Given the description of an element on the screen output the (x, y) to click on. 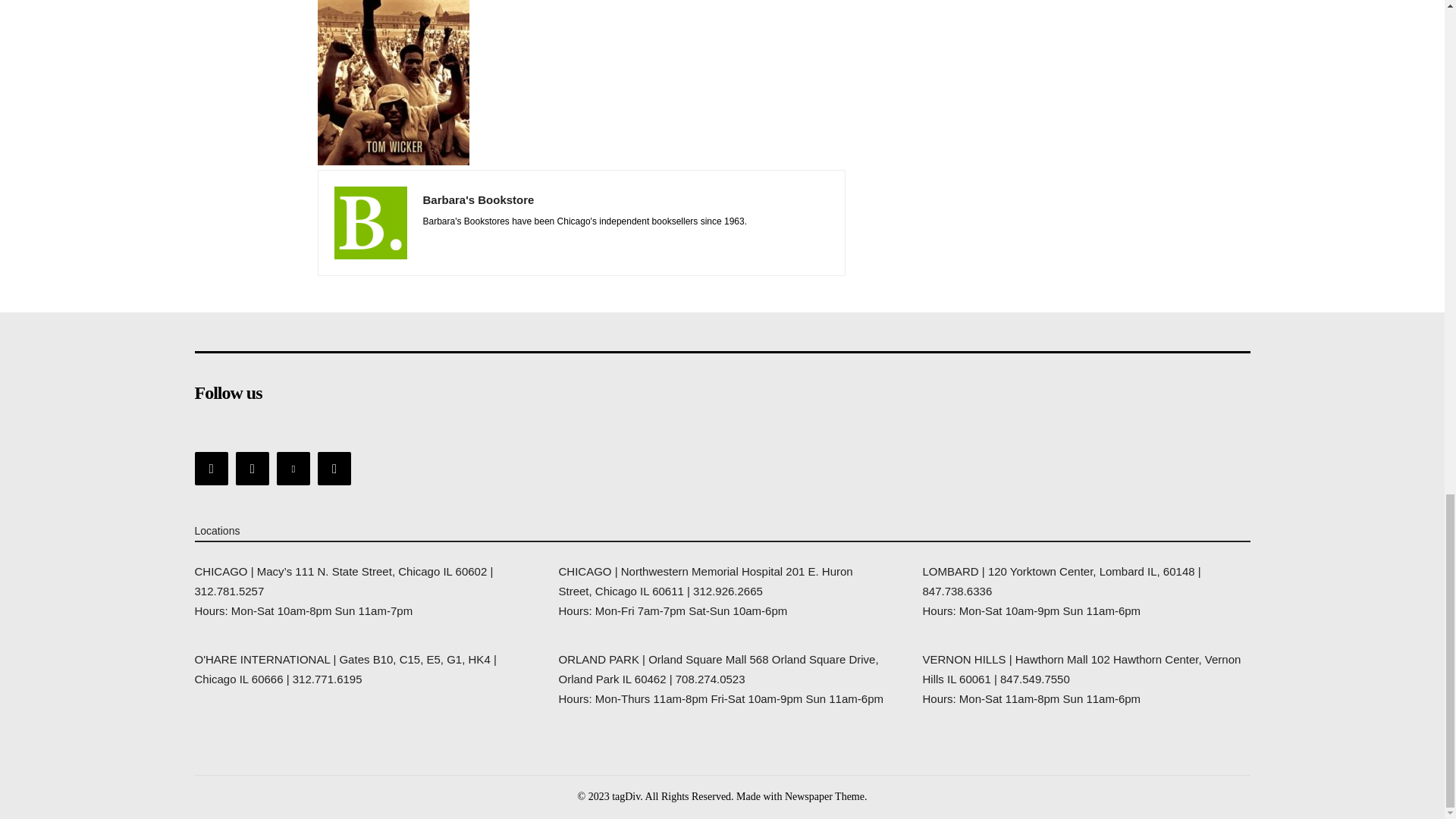
Facebook (210, 467)
Instagram (252, 467)
Twitter (293, 467)
